Given the description of an element on the screen output the (x, y) to click on. 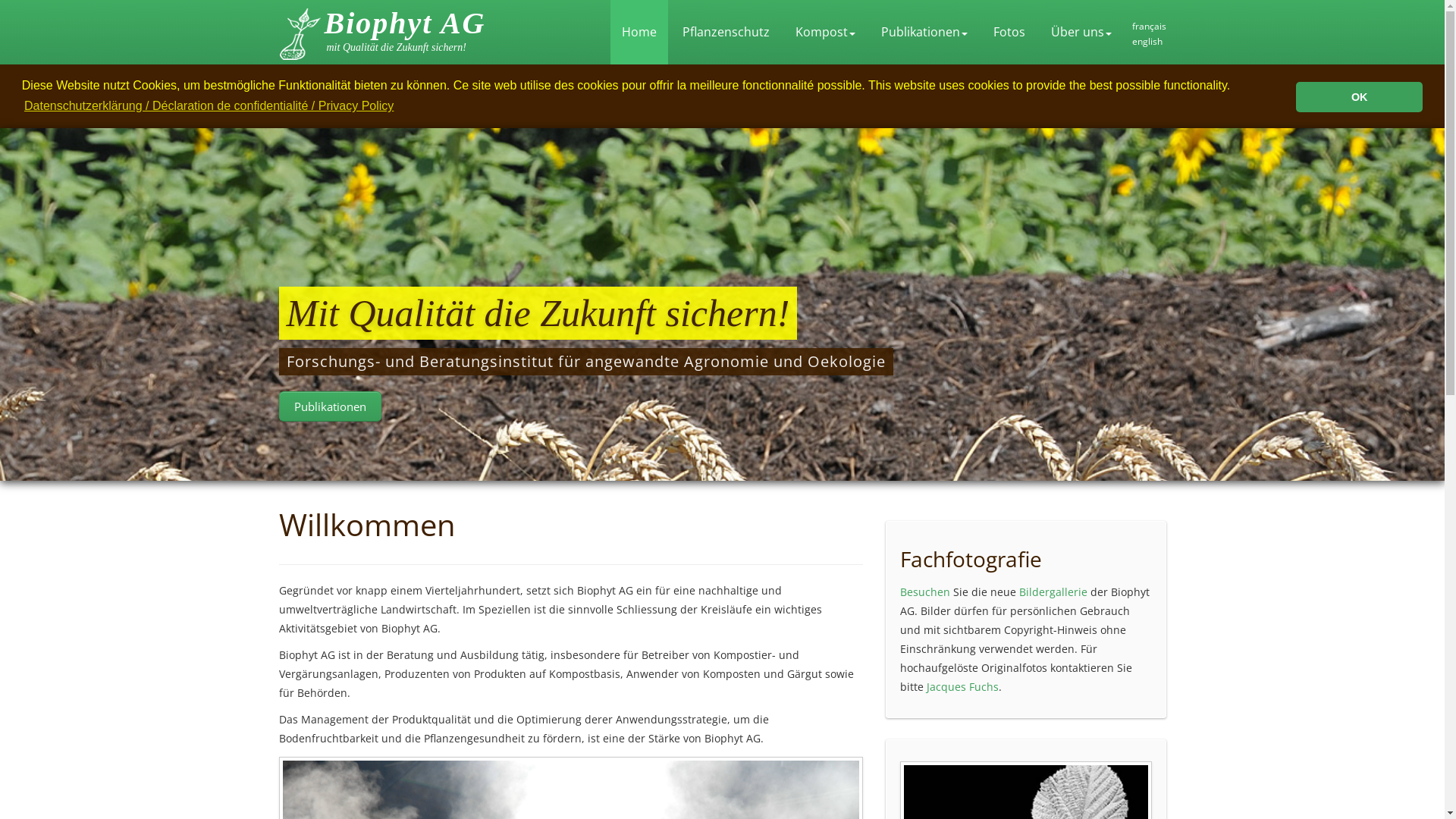
Biophyt AG Element type: text (405, 23)
Publikationen Element type: text (330, 406)
OK Element type: text (1358, 96)
Kompost Element type: text (825, 32)
Pflanzenschutz Element type: text (725, 32)
Fotos Element type: text (1008, 32)
english Element type: text (1146, 40)
Bildergallerie Element type: text (1053, 591)
Besuchen Element type: text (924, 591)
Jacques Fuchs Element type: text (962, 686)
Home Element type: text (638, 32)
Publikationen Element type: text (923, 32)
